Given the description of an element on the screen output the (x, y) to click on. 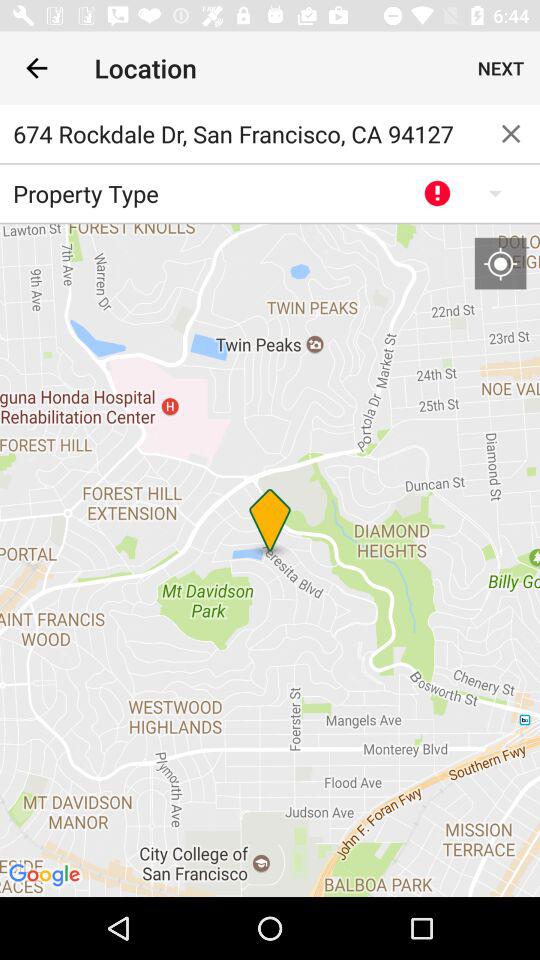
choose icon to the right of the location (500, 67)
